Given the description of an element on the screen output the (x, y) to click on. 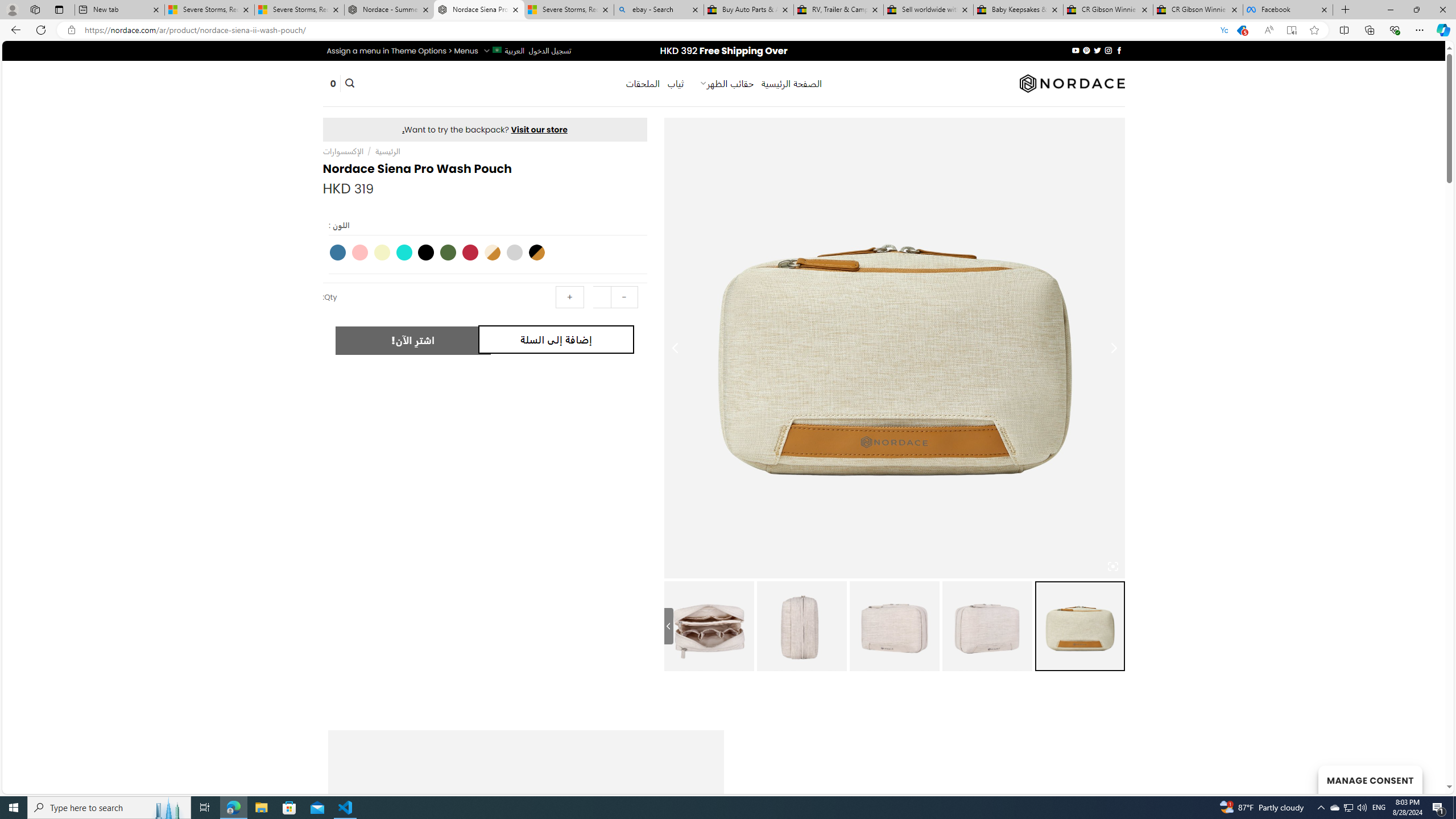
- (623, 296)
Visit our store. (484, 129)
Nordace - Summer Adventures 2024 (389, 9)
Follow on YouTube (1074, 50)
Follow on Pinterest (1086, 50)
RV, Trailer & Camper Steps & Ladders for sale | eBay (838, 9)
